Given the description of an element on the screen output the (x, y) to click on. 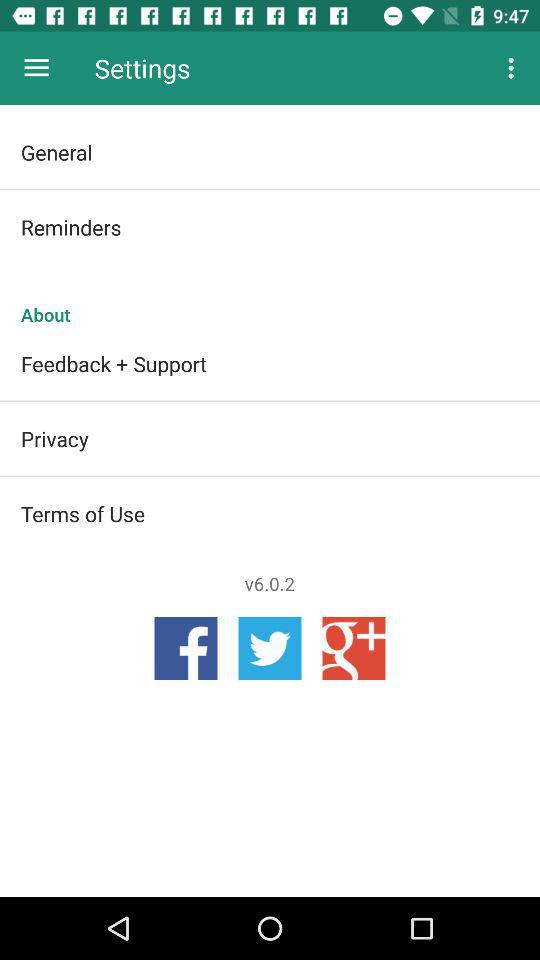
turn off icon next to the settings icon (36, 68)
